Given the description of an element on the screen output the (x, y) to click on. 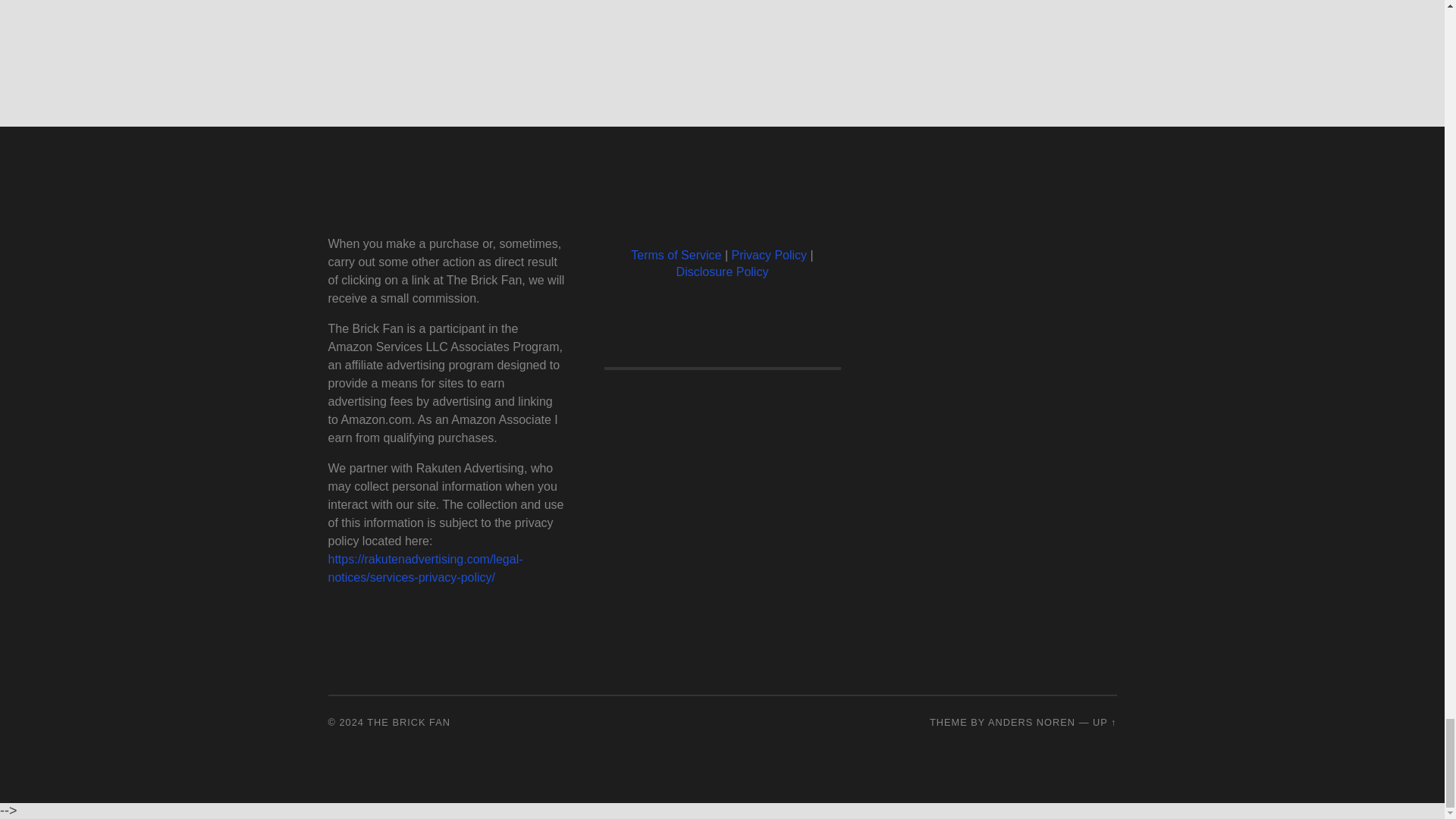
To the top (1104, 722)
